Given the description of an element on the screen output the (x, y) to click on. 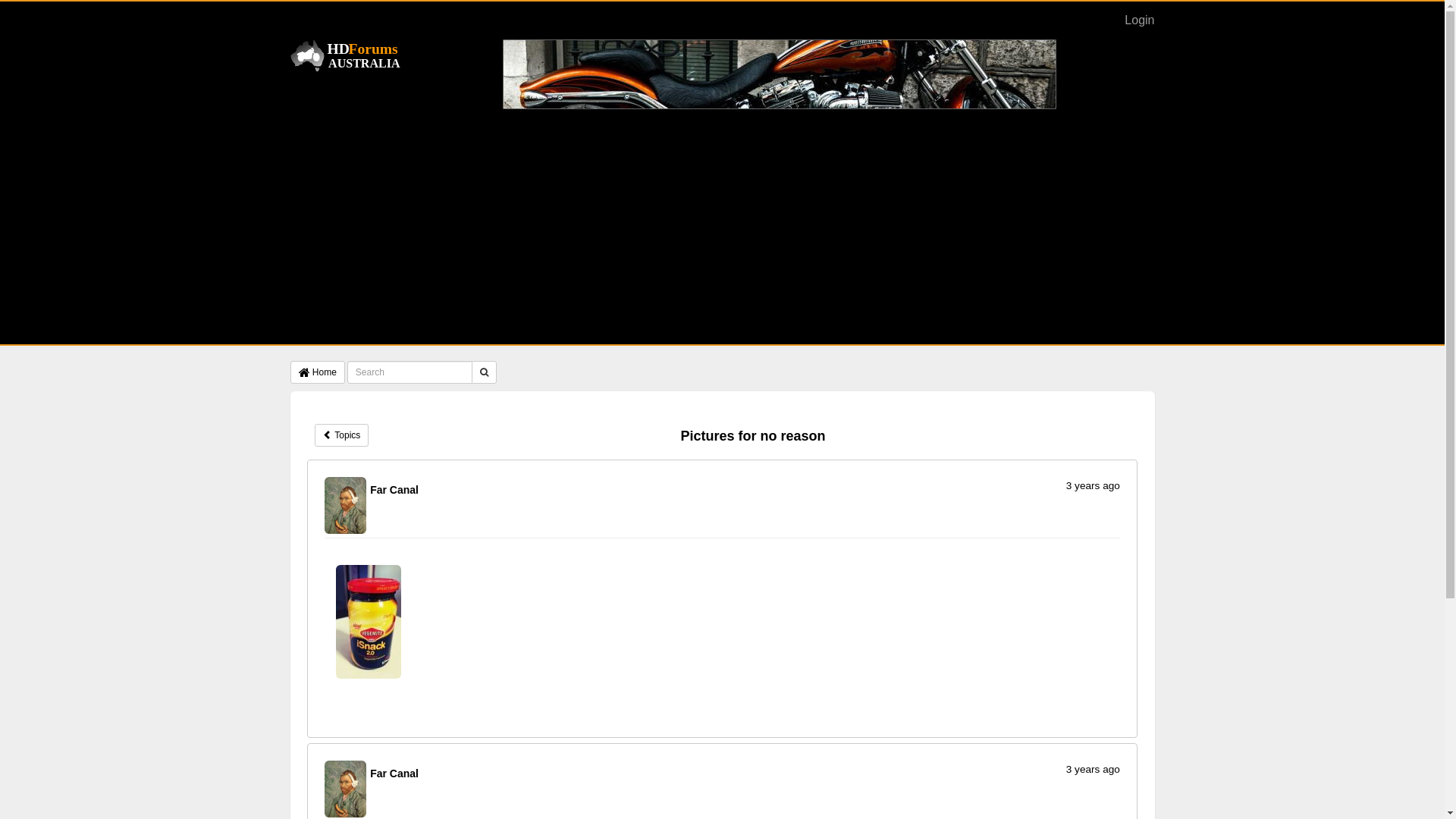
Login Element type: text (1139, 20)
Advertisement Element type: hover (721, 222)
Home Element type: hover (346, 55)
Far Canal Element type: hover (345, 504)
Far Canal Element type: hover (345, 788)
Topics Element type: text (341, 434)
Home Element type: text (316, 371)
